Given the description of an element on the screen output the (x, y) to click on. 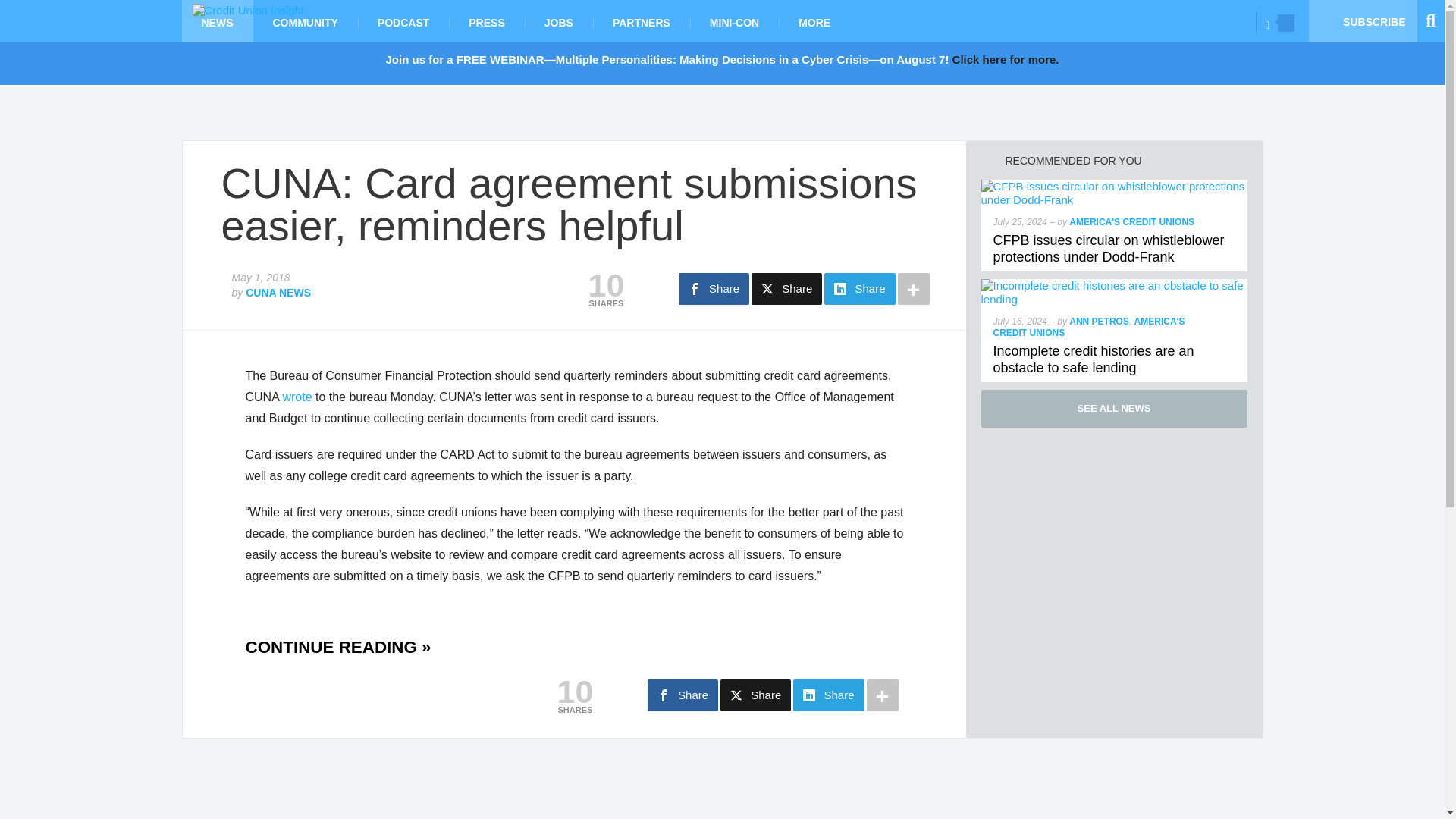
PODCAST (403, 21)
PARTNERS (641, 21)
Share (713, 288)
Incomplete credit histories are an obstacle to safe lending (1114, 285)
MINI-CON (734, 21)
JOBS (558, 21)
PRESS (486, 21)
COMMUNITY (305, 21)
Opener (1286, 22)
MORE (814, 21)
Share (786, 288)
CUNA NEWS (278, 292)
Incomplete credit histories are an obstacle to safe lending (1092, 359)
SUBSCRIBE (1362, 21)
